Given the description of an element on the screen output the (x, y) to click on. 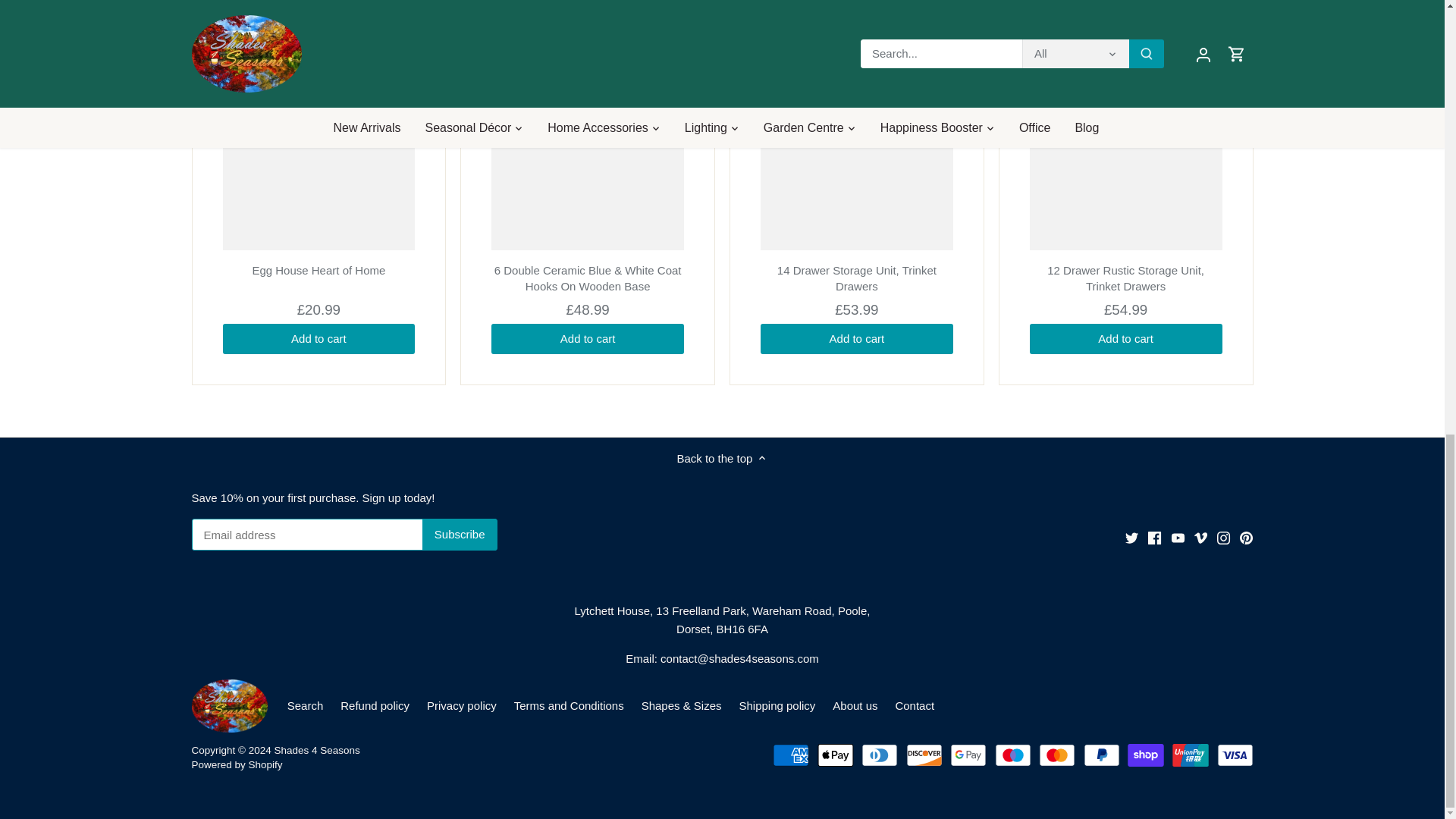
Vimeo (1200, 537)
Twitter (1131, 537)
Facebook (1154, 537)
Subscribe (459, 534)
Youtube (1178, 537)
